Given the description of an element on the screen output the (x, y) to click on. 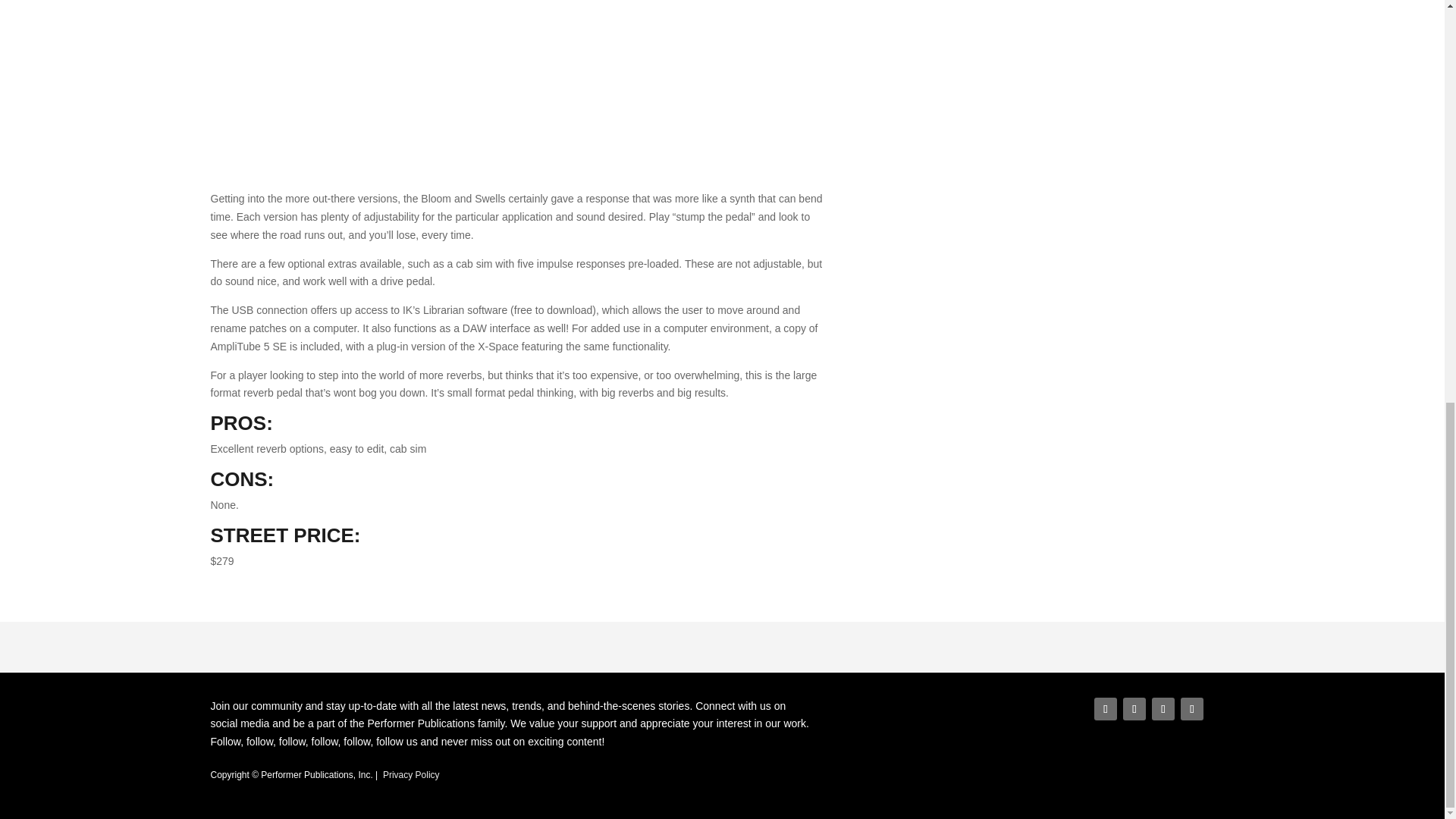
Follow on Youtube (1192, 708)
Follow on X (1133, 708)
Follow on Instagram (1162, 708)
Follow on Facebook (1105, 708)
